Given the description of an element on the screen output the (x, y) to click on. 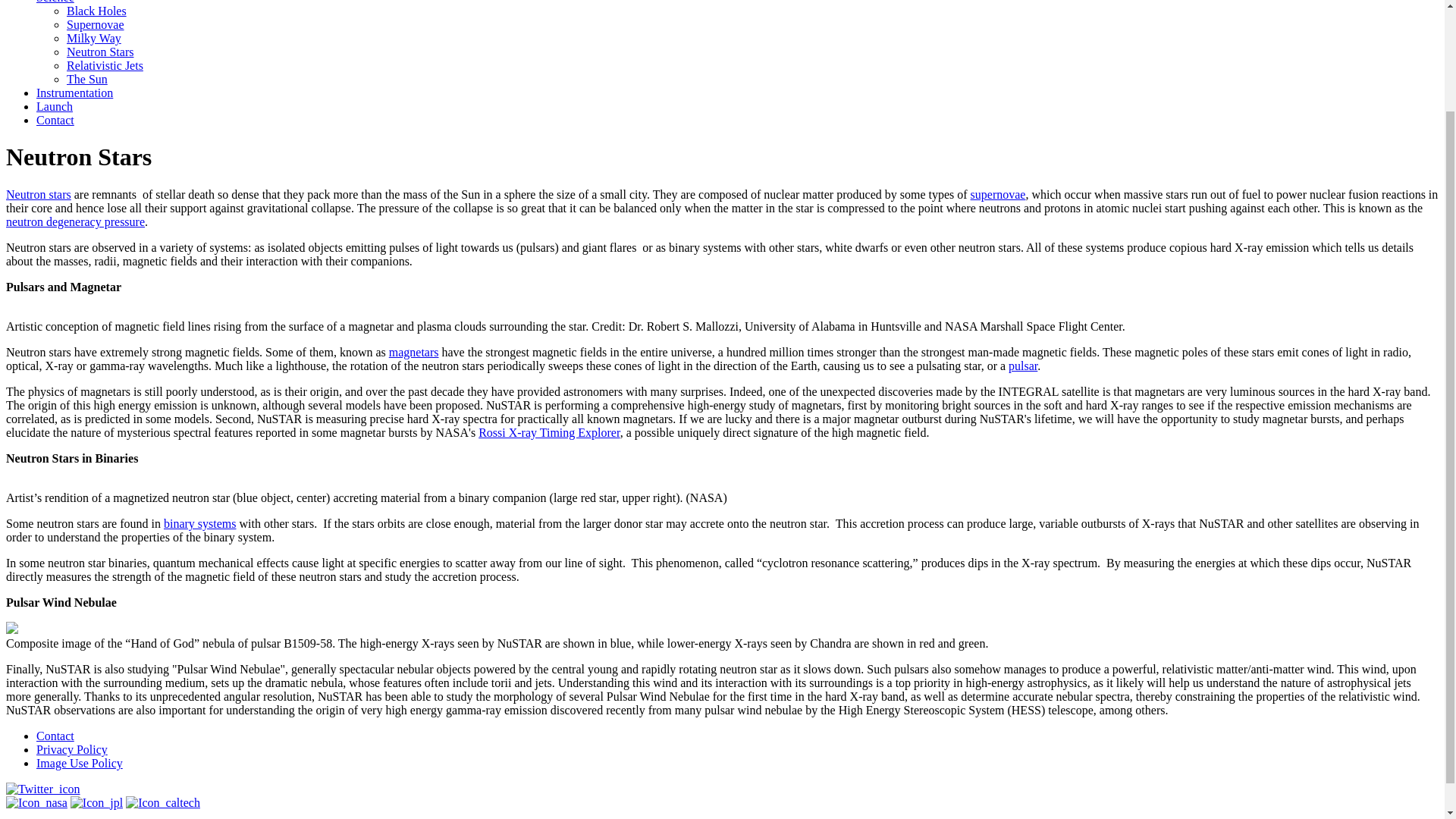
Milky Way (93, 38)
Black Holes (96, 10)
Image Use Policy (79, 762)
Science (55, 2)
magnetars (413, 351)
Privacy Policy (71, 748)
The Sun (86, 78)
neutron degeneracy pressure (74, 221)
Supernovae (94, 24)
Relativistic Jets (104, 65)
